Given the description of an element on the screen output the (x, y) to click on. 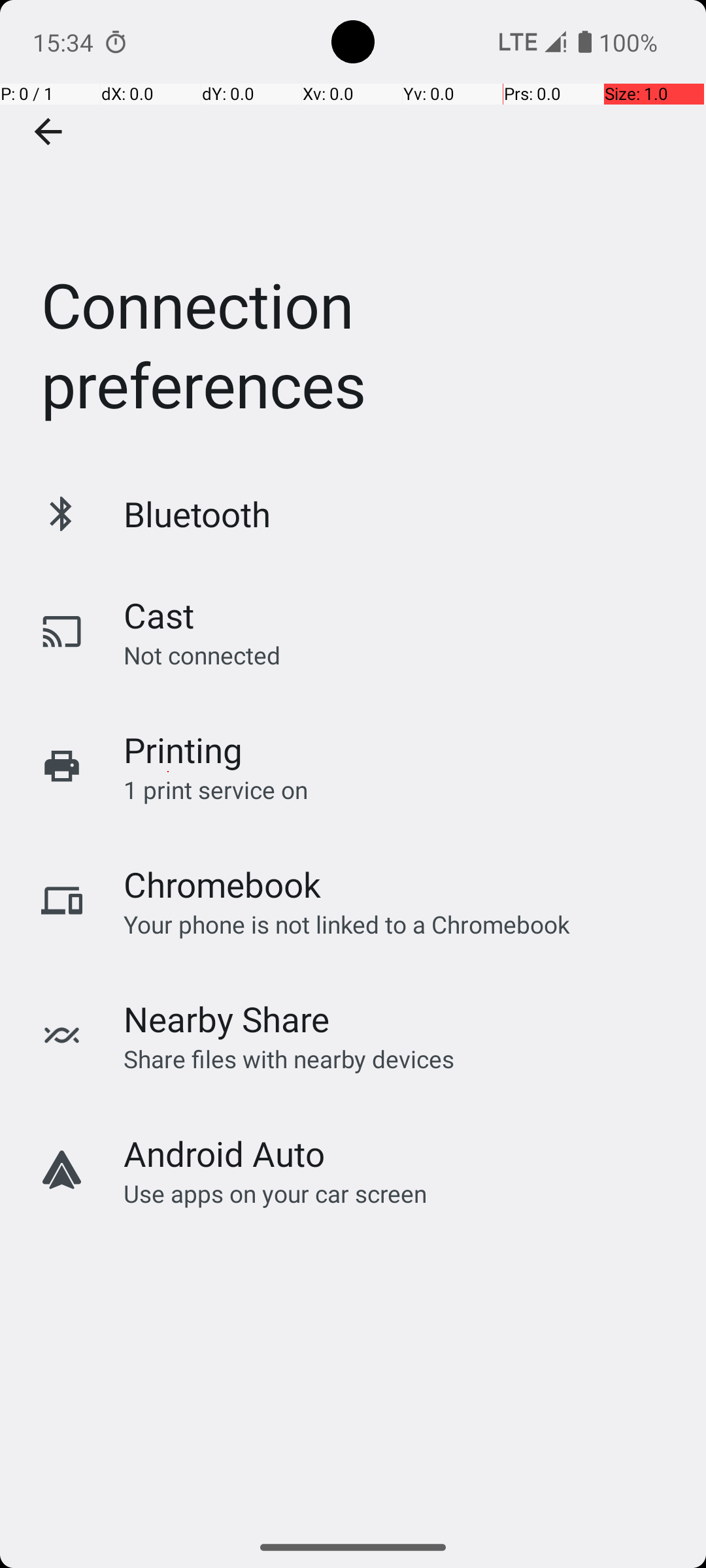
Connection preferences Element type: android.widget.FrameLayout (353, 231)
Bluetooth Element type: android.widget.TextView (197, 513)
Cast Element type: android.widget.TextView (158, 614)
Not connected Element type: android.widget.TextView (201, 654)
Printing Element type: android.widget.TextView (182, 749)
1 print service on Element type: android.widget.TextView (215, 789)
Chromebook Element type: android.widget.TextView (222, 884)
Your phone is not linked to a Chromebook Element type: android.widget.TextView (346, 923)
Nearby Share Element type: android.widget.TextView (226, 1018)
Share files with nearby devices Element type: android.widget.TextView (288, 1058)
Use apps on your car screen Element type: android.widget.TextView (275, 1192)
